Given the description of an element on the screen output the (x, y) to click on. 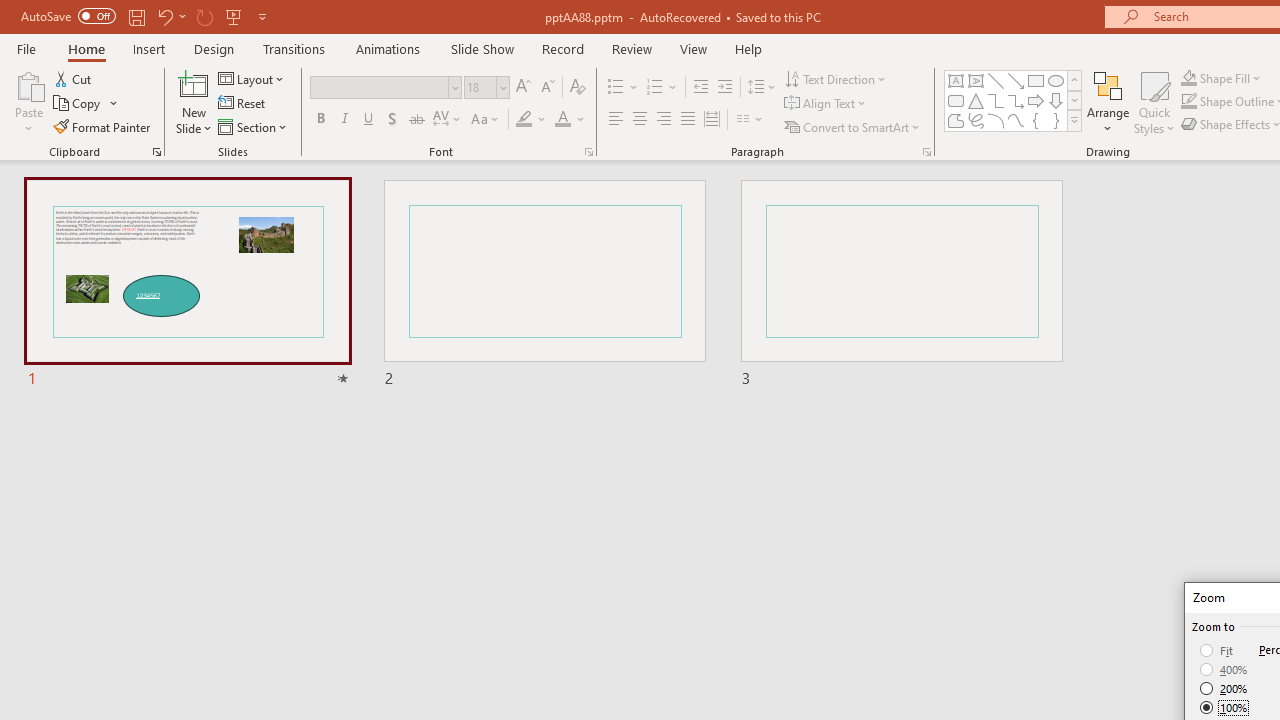
Shape Outline Teal, Accent 1 (1188, 101)
